Given the description of an element on the screen output the (x, y) to click on. 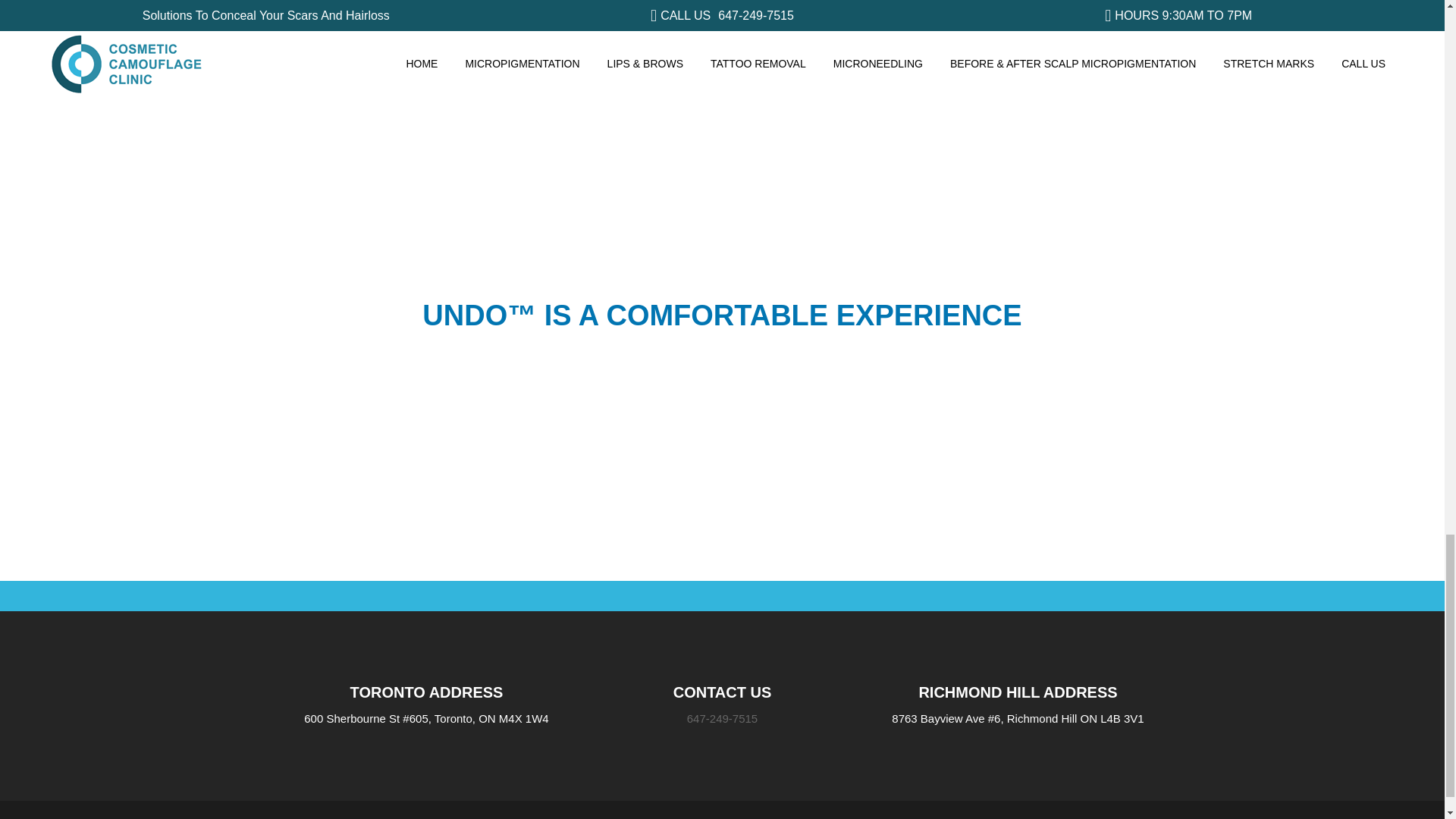
Book An Appointment (1162, 523)
647-249-7515 (722, 717)
